Given the description of an element on the screen output the (x, y) to click on. 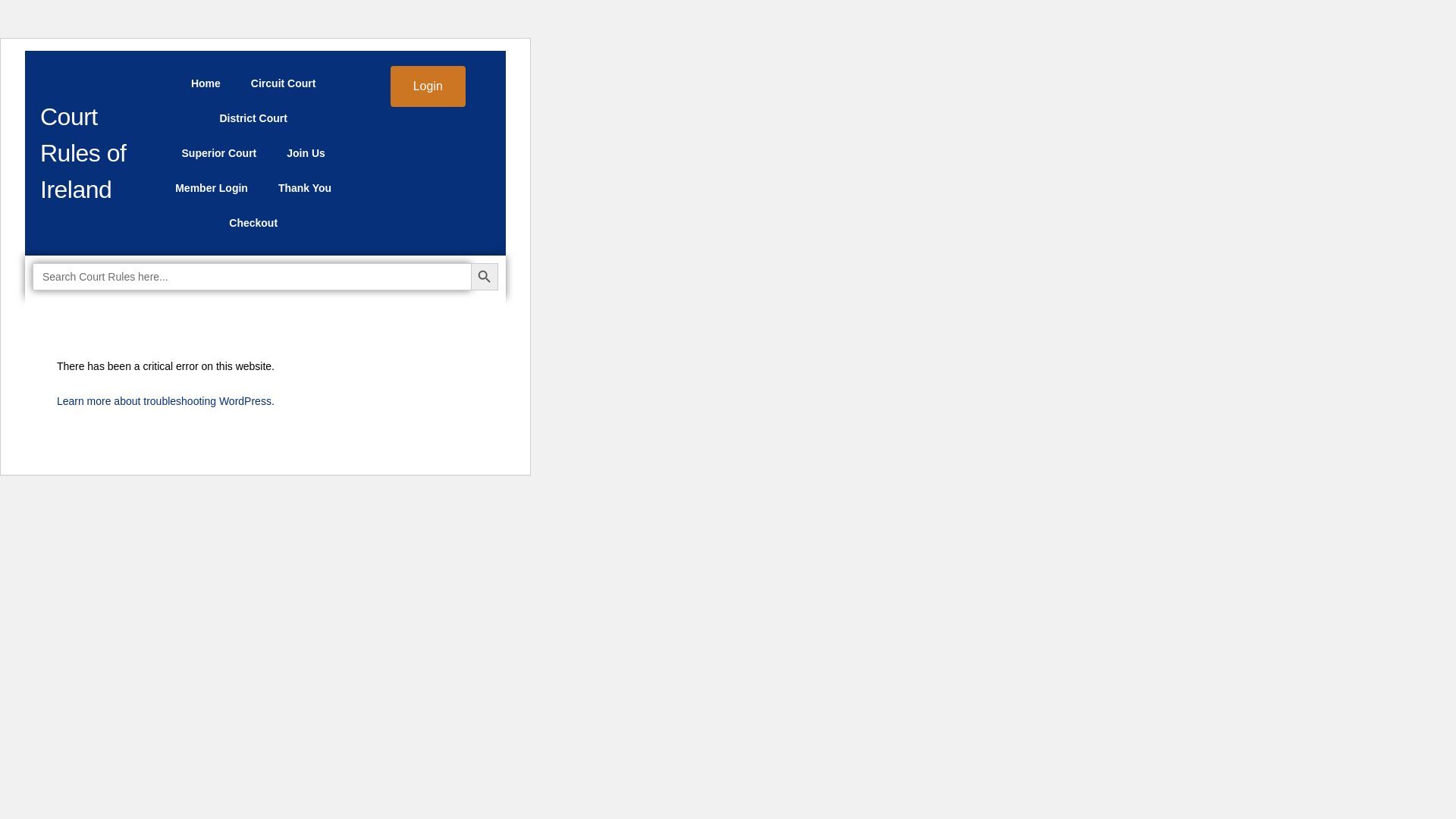
Thank You (304, 187)
Home (205, 83)
Member Login (211, 187)
District Court (252, 117)
Search Button (483, 276)
Checkout (253, 222)
Join Us (305, 152)
Login (427, 86)
Circuit Court (283, 83)
Learn more about troubleshooting WordPress. (165, 400)
Superior Court (219, 152)
